Given the description of an element on the screen output the (x, y) to click on. 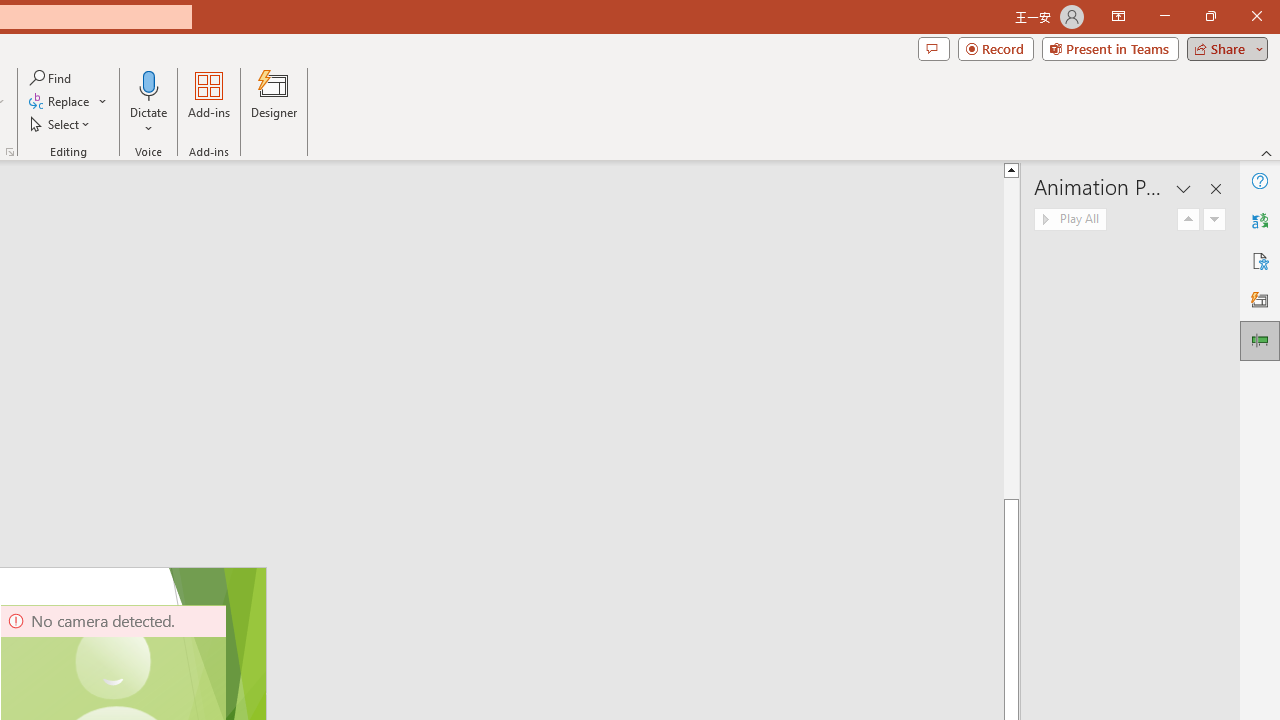
Move Up (1188, 219)
